Given the description of an element on the screen output the (x, y) to click on. 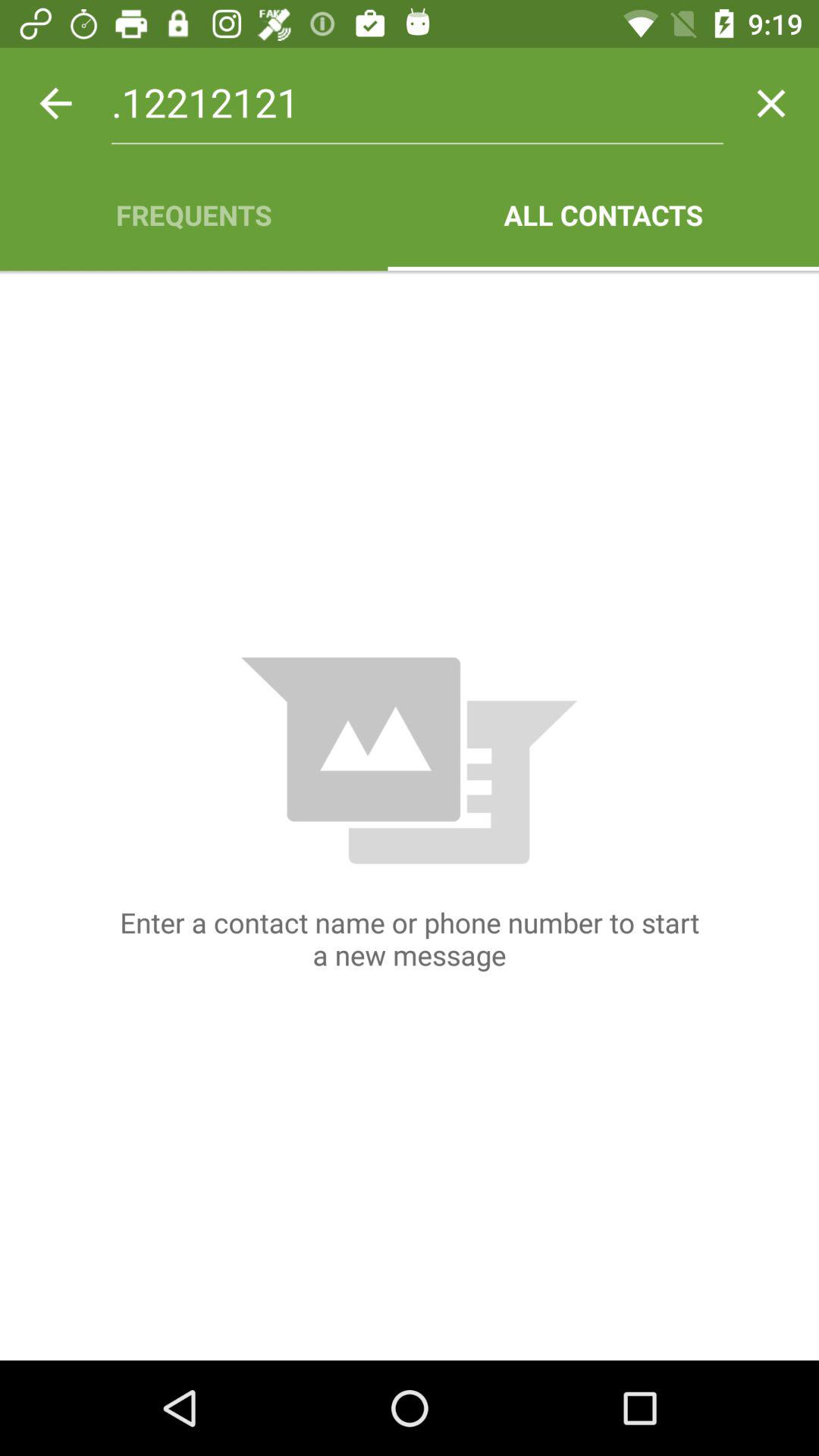
scroll to frequents item (193, 214)
